Given the description of an element on the screen output the (x, y) to click on. 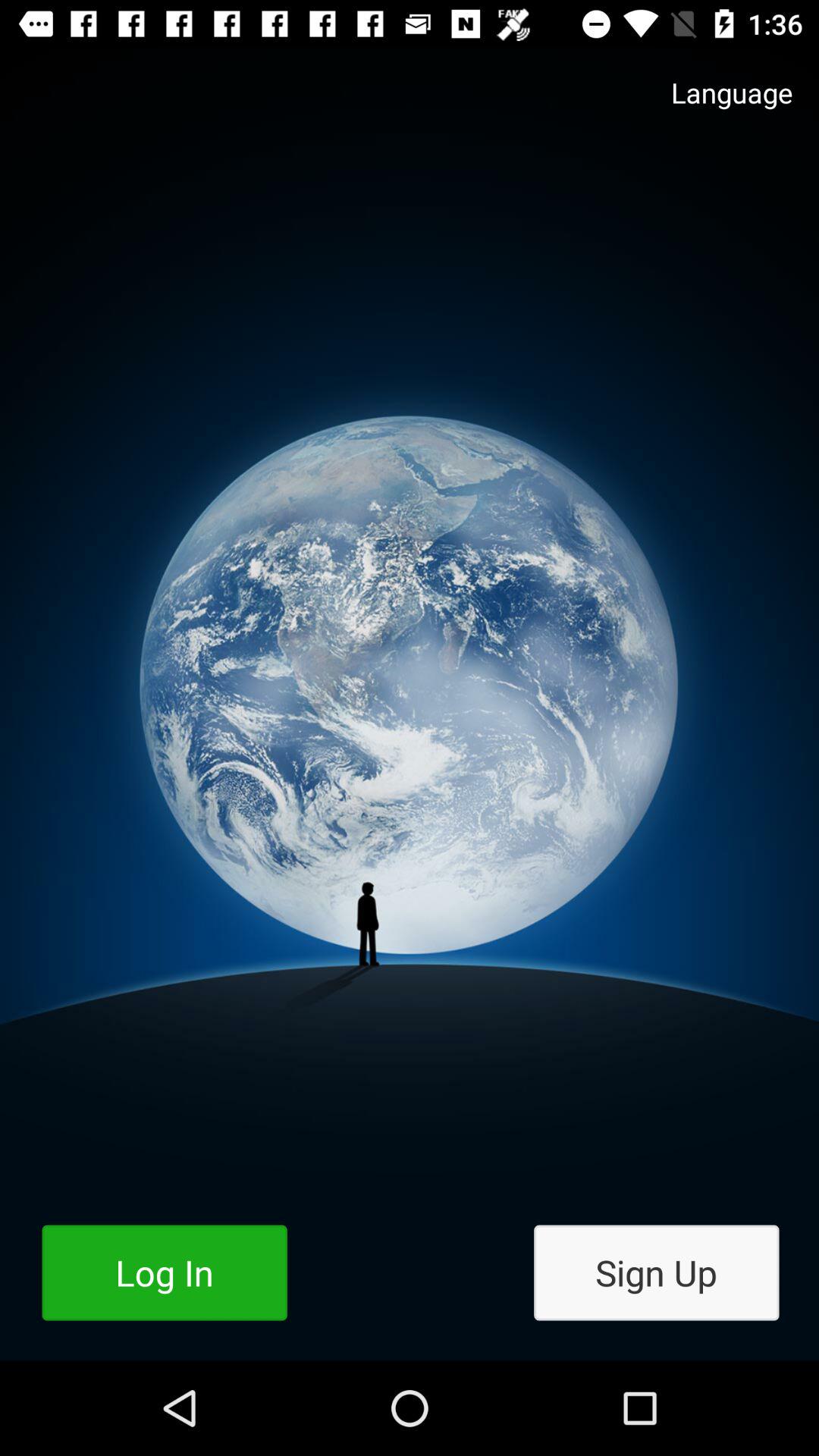
press the log in icon (164, 1272)
